Given the description of an element on the screen output the (x, y) to click on. 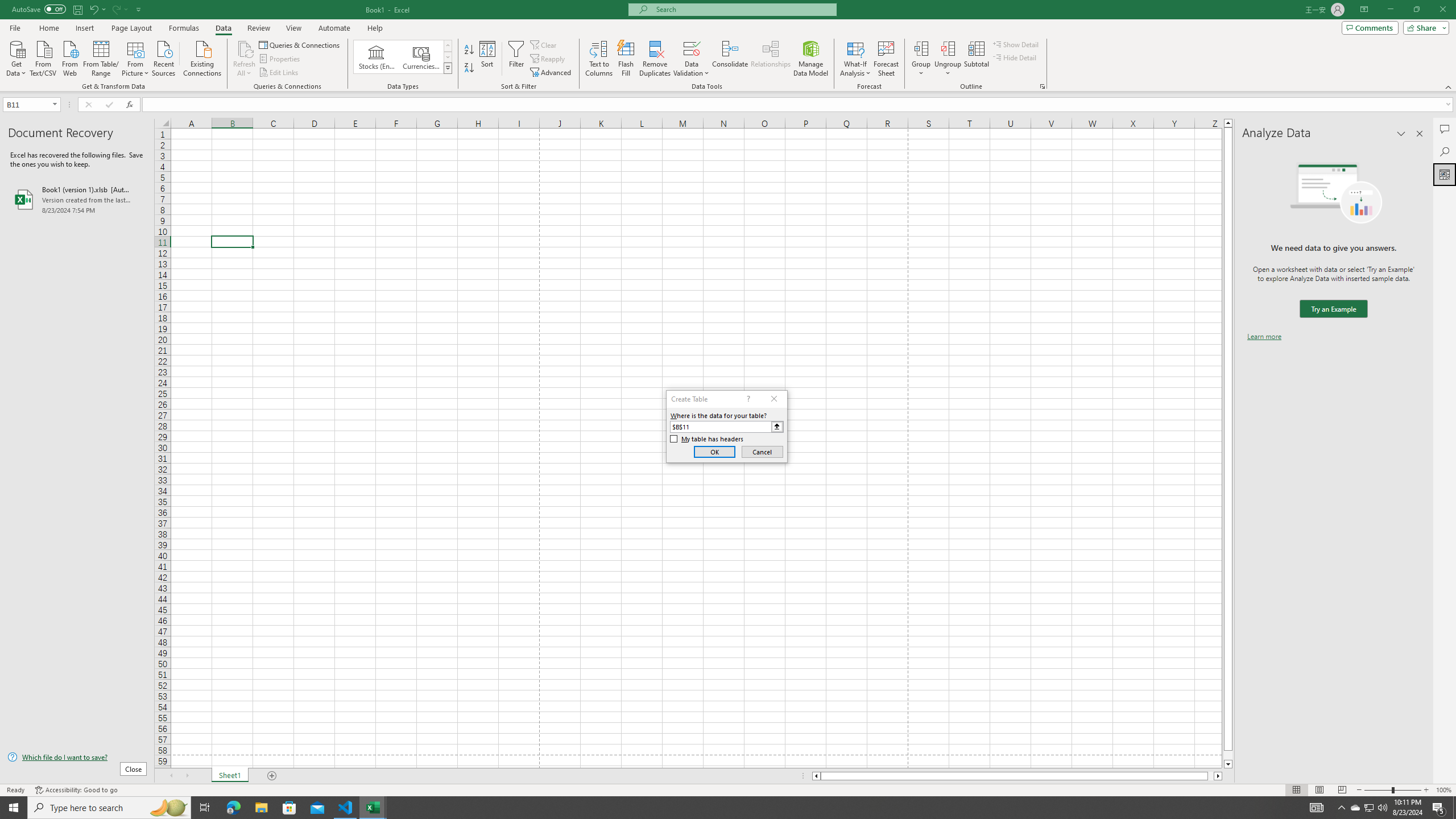
Reapply (548, 58)
Properties (280, 58)
Text to Columns... (598, 58)
From Text/CSV (43, 57)
